Given the description of an element on the screen output the (x, y) to click on. 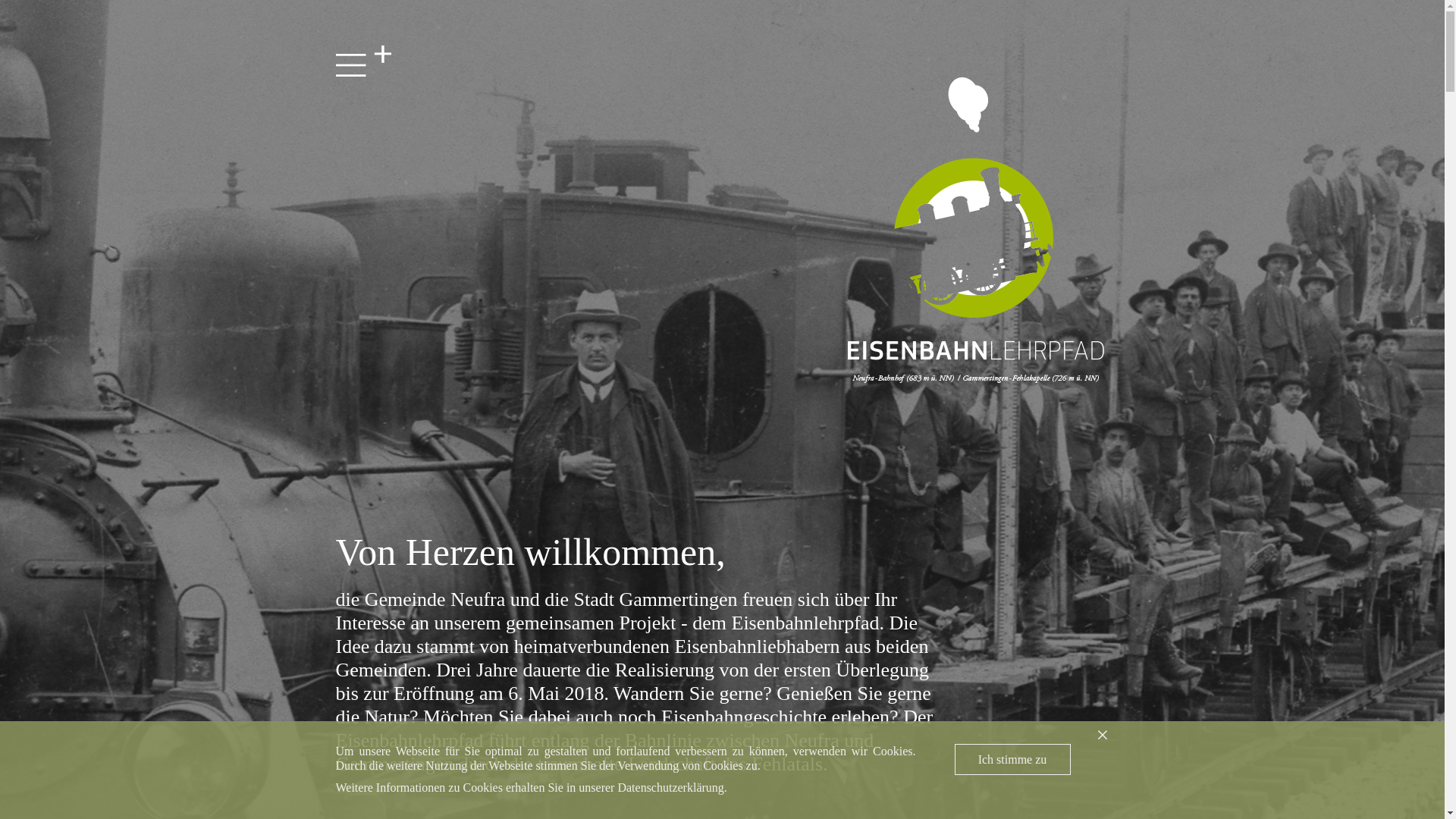
Flyer zum Download (437, 816)
